Given the description of an element on the screen output the (x, y) to click on. 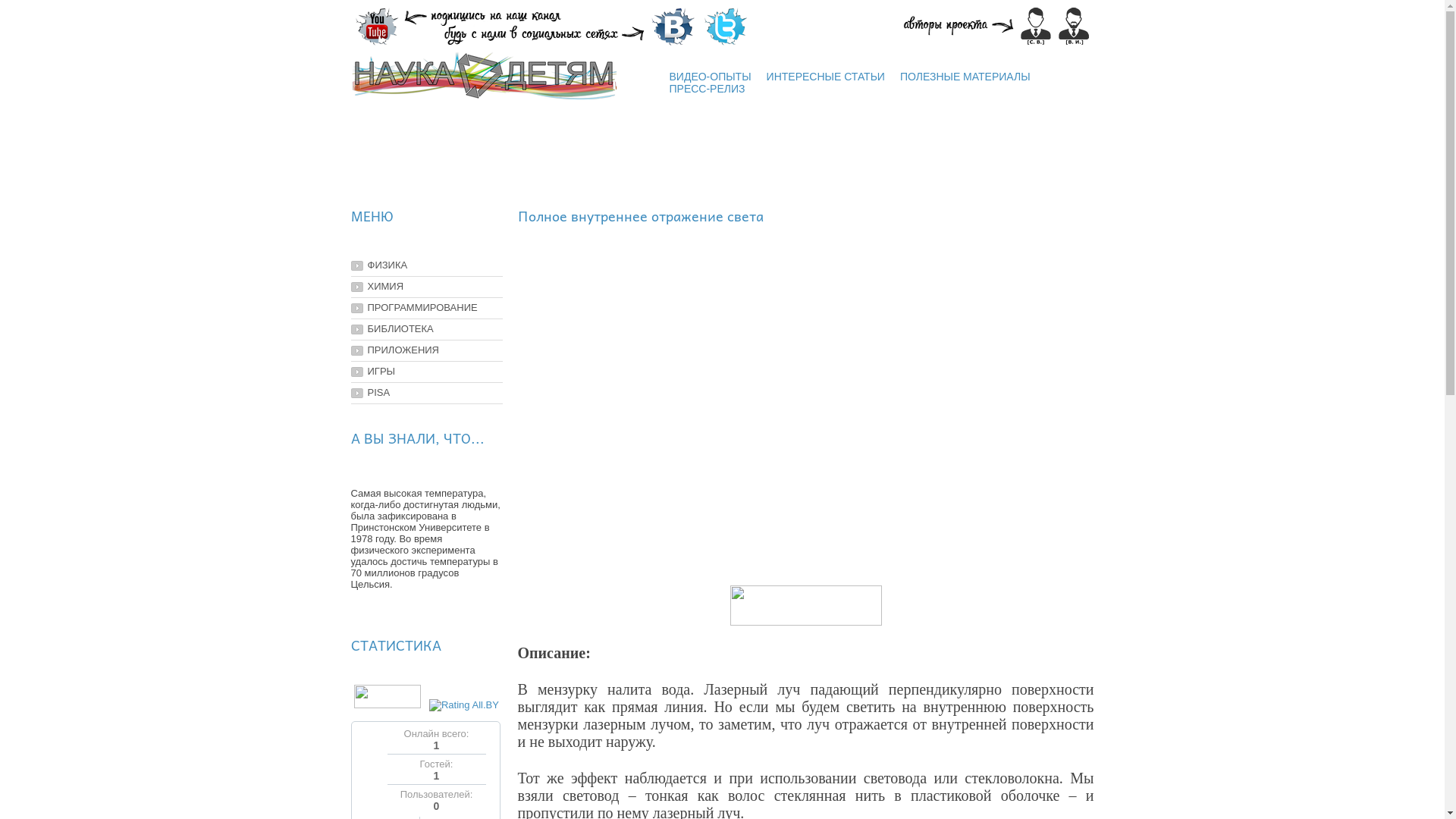
uCoz Counter Element type: hover (387, 704)
PISA Element type: text (369, 392)
